Given the description of an element on the screen output the (x, y) to click on. 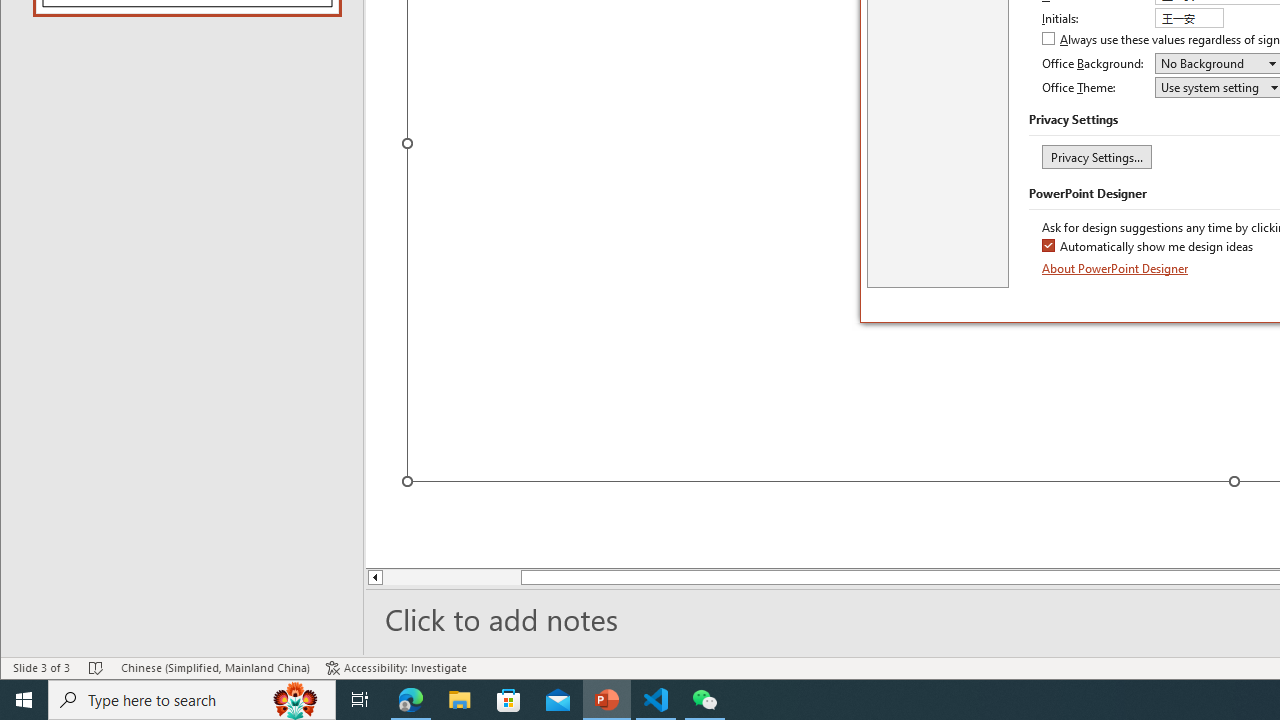
Initials (1188, 17)
Automatically show me design ideas (1148, 247)
WeChat - 1 running window (704, 699)
Privacy Settings... (1096, 156)
